Given the description of an element on the screen output the (x, y) to click on. 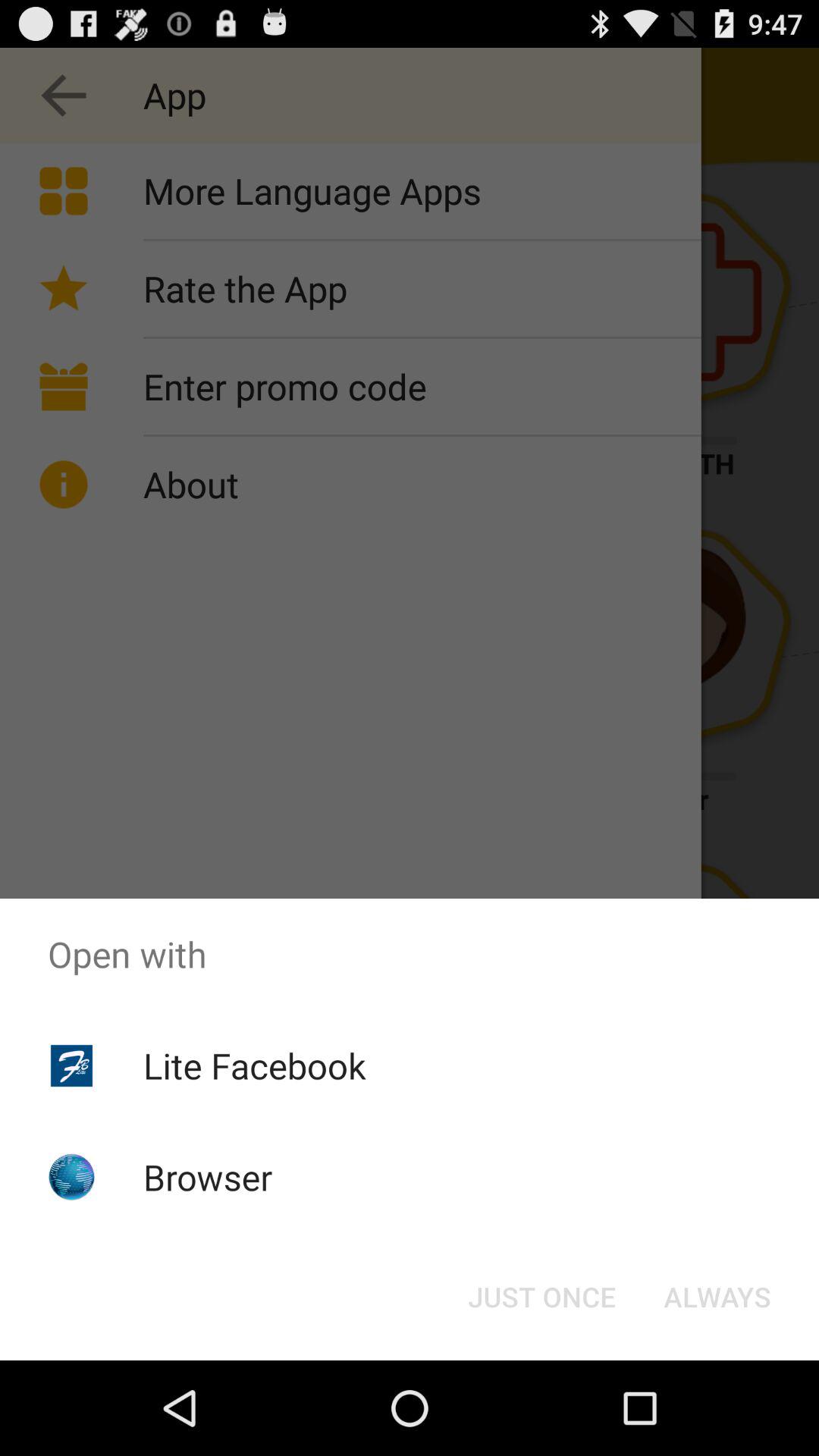
choose just once button (541, 1296)
